Given the description of an element on the screen output the (x, y) to click on. 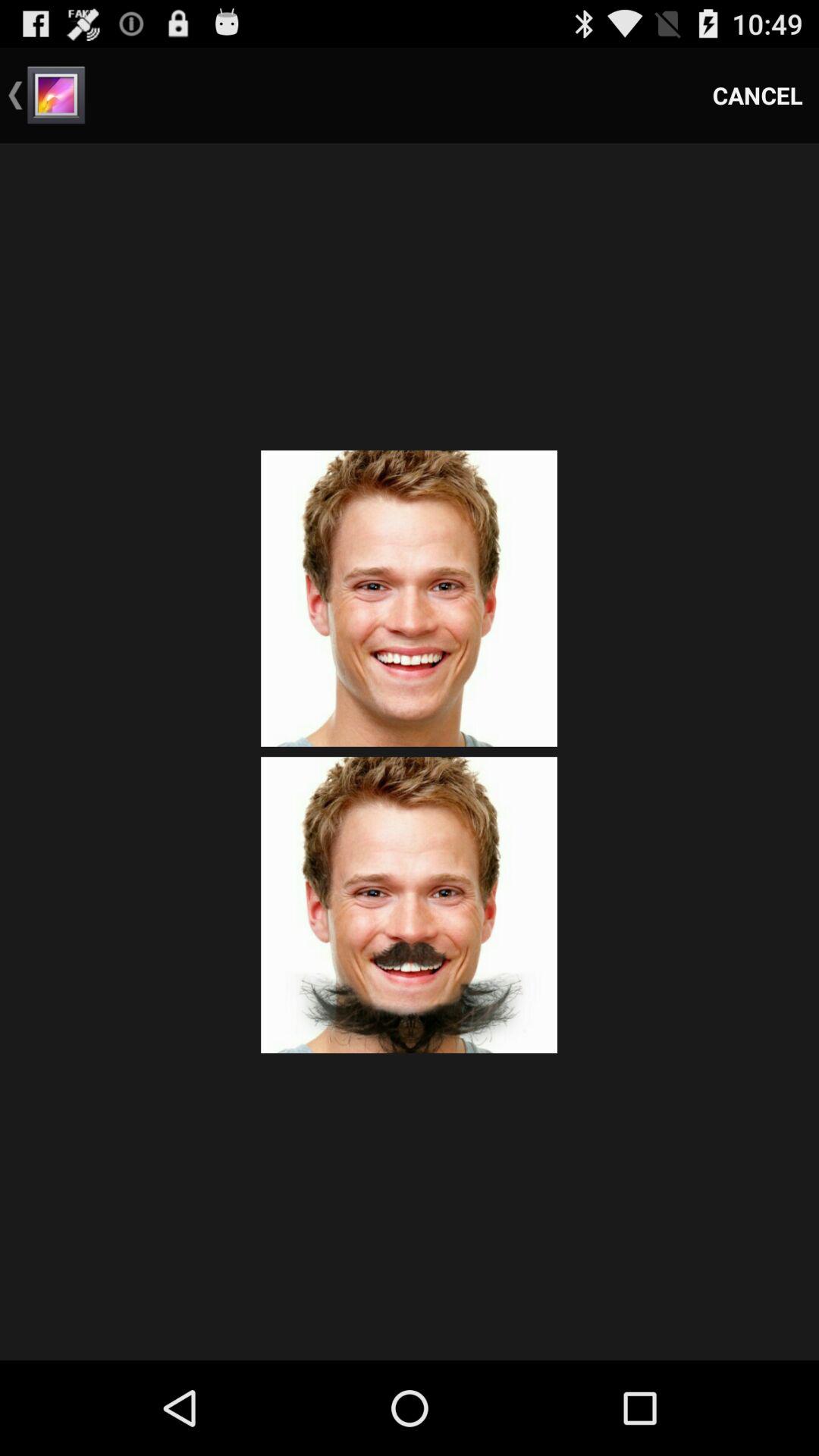
turn on the cancel icon (757, 95)
